Given the description of an element on the screen output the (x, y) to click on. 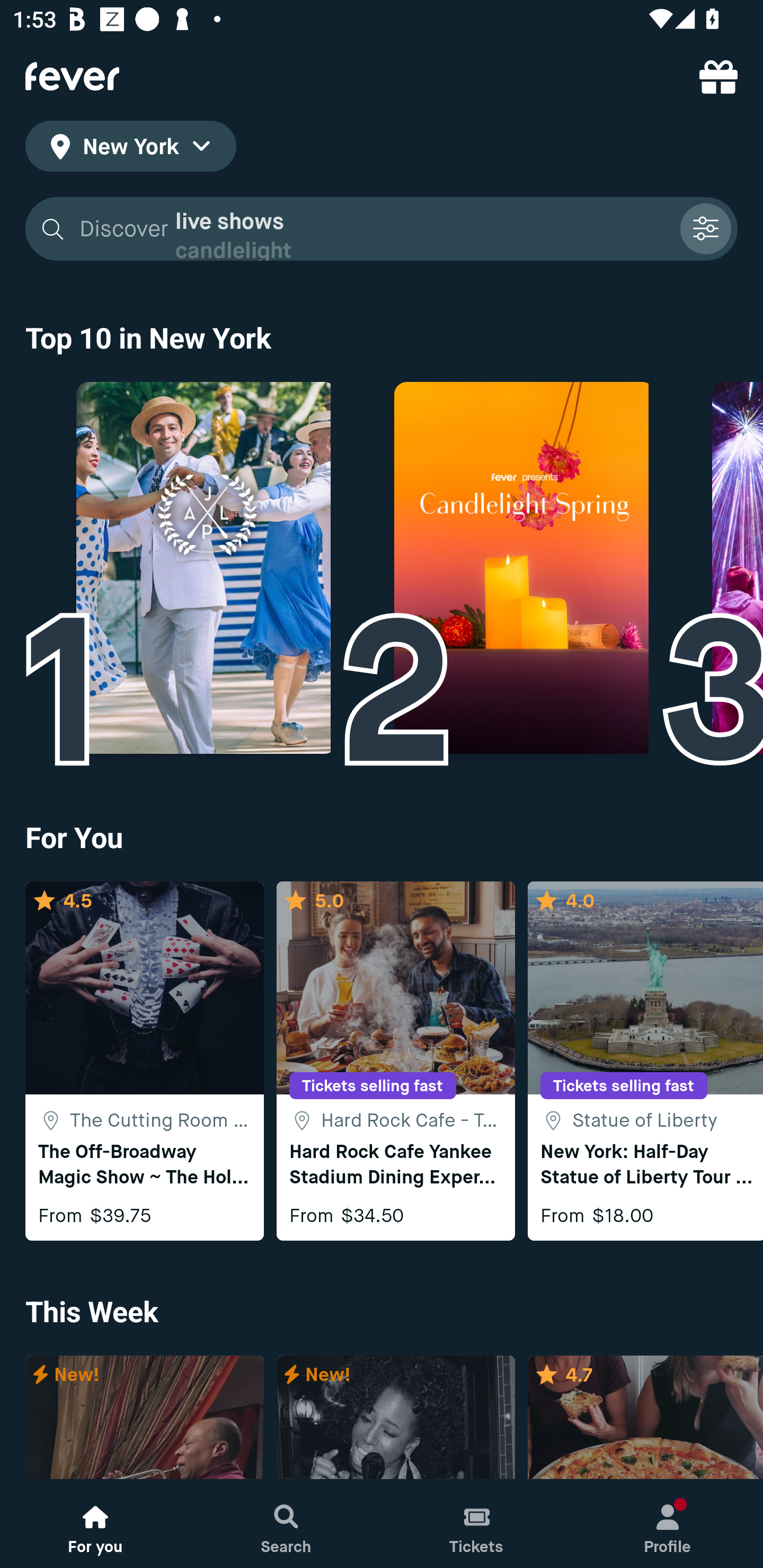
referral (718, 75)
location icon New York location icon (130, 149)
Discover live shows (381, 228)
Discover live shows (373, 228)
cover image New! label New! (144, 1417)
cover image New! label New! (395, 1417)
cover image 50.0 4.7 (645, 1417)
Search (285, 1523)
Tickets (476, 1523)
Profile, New notification Profile (667, 1523)
